Given the description of an element on the screen output the (x, y) to click on. 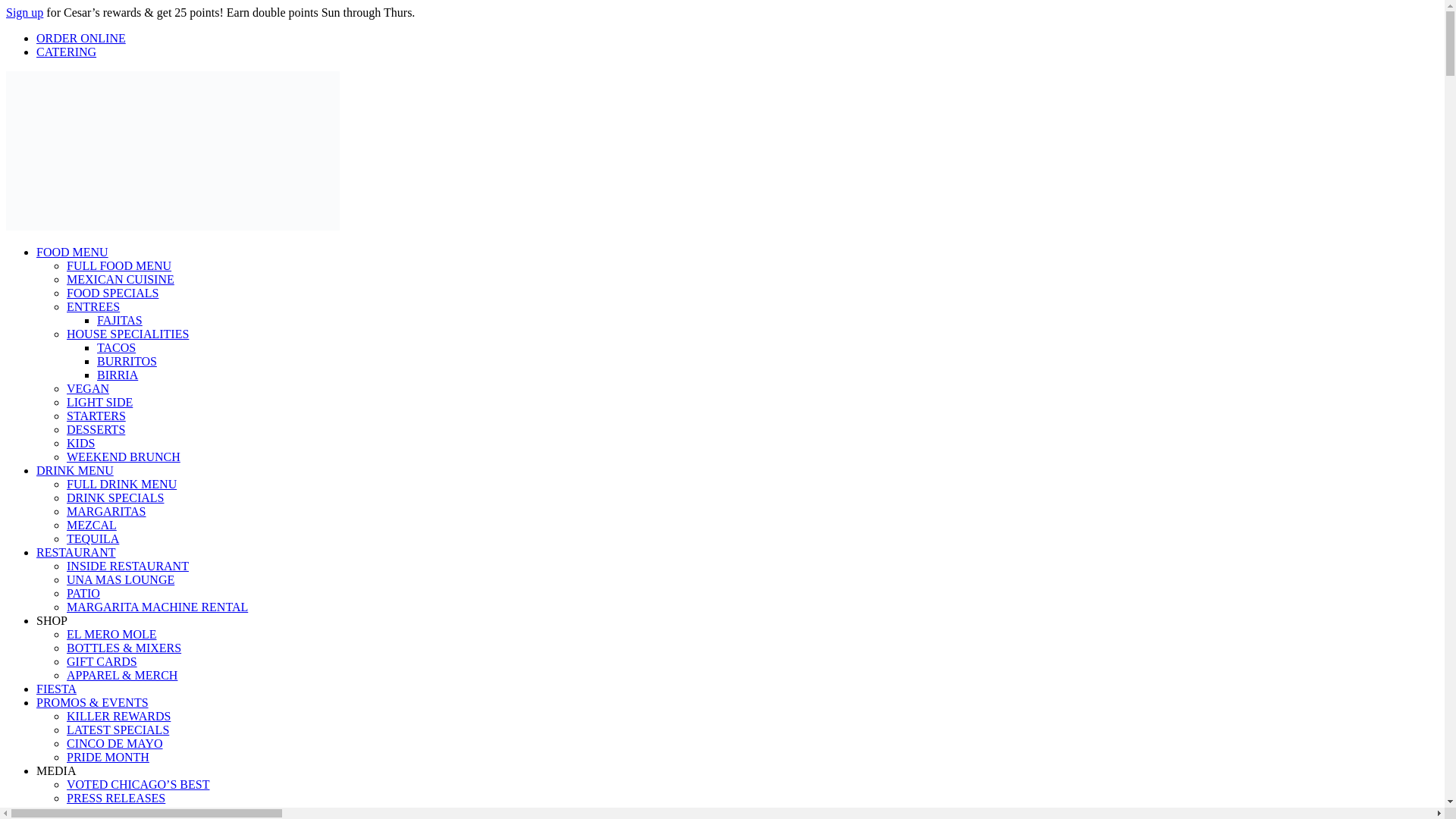
MEXICAN CUISINE (120, 278)
FULL DRINK MENU (121, 483)
ORDER ONLINE (80, 38)
PATIO (83, 593)
HOUSE SPECIALITIES (127, 333)
KILLER REWARDS (118, 716)
MEZCAL (91, 524)
BURRITOS (127, 360)
LIGHT SIDE (99, 401)
RESTAURANT (76, 552)
FOOD MENU (71, 251)
VEGAN (87, 388)
DRINK MENU (74, 470)
Sign up (24, 11)
EL MERO MOLE (111, 634)
